Given the description of an element on the screen output the (x, y) to click on. 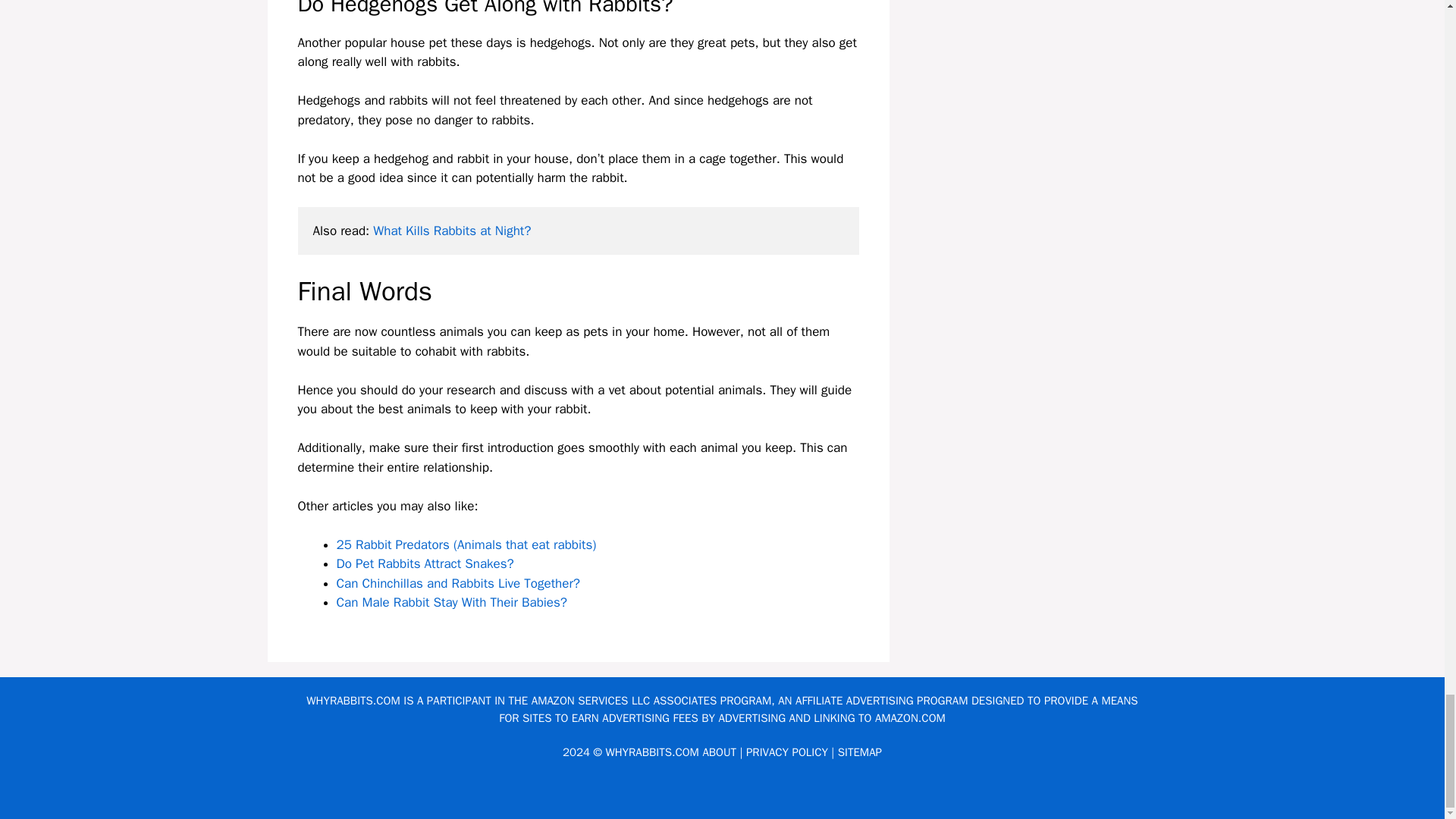
Do Pet Rabbits Attract Snakes? (424, 563)
Can Male Rabbit Stay With Their Babies? (451, 602)
DMCA.com Protection Status (722, 795)
Can Chinchillas and Rabbits Live Together? (458, 583)
What Kills Rabbits at Night? (451, 230)
